Given the description of an element on the screen output the (x, y) to click on. 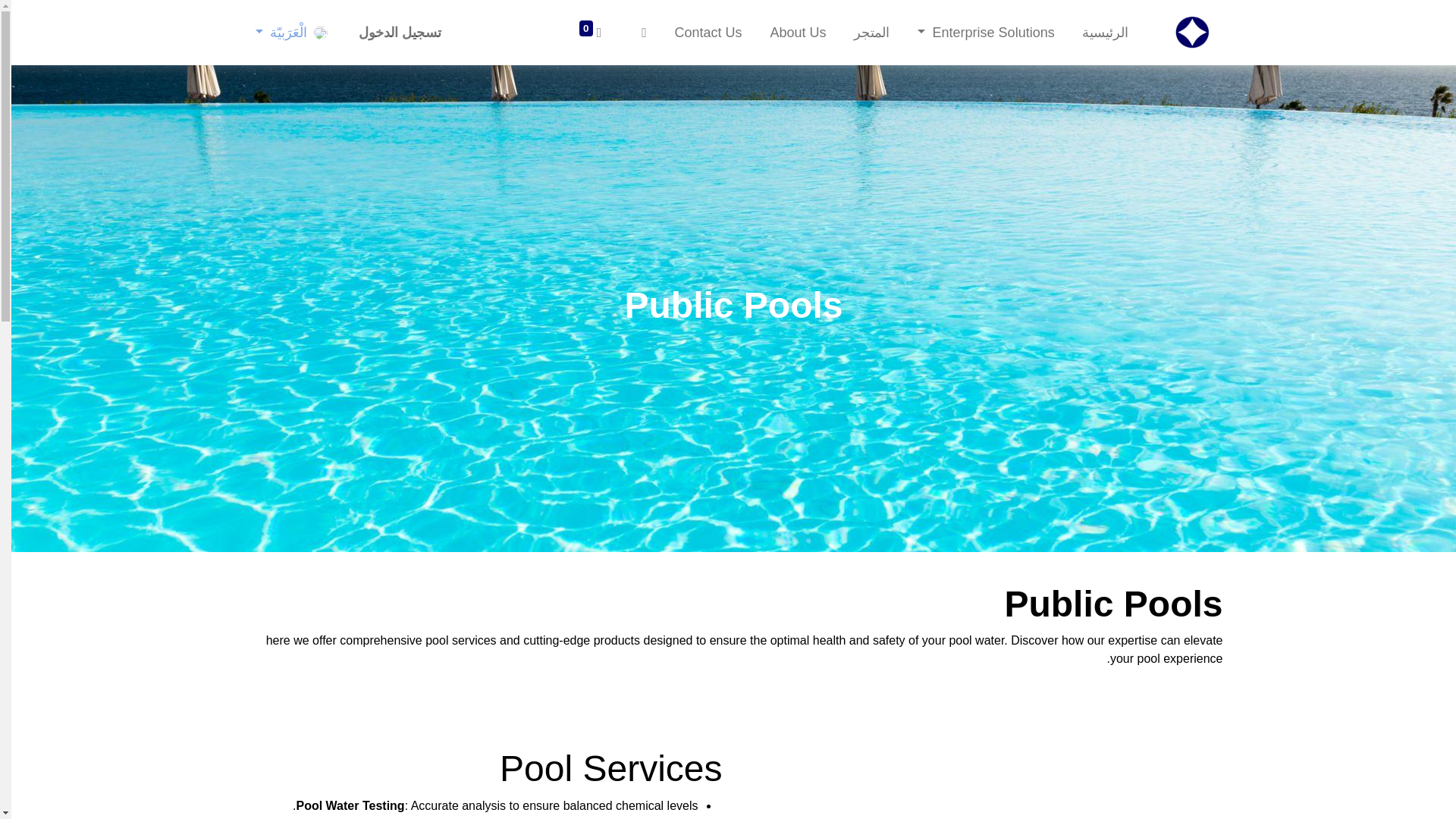
Enterprise Solutions (986, 32)
About Us (797, 32)
0 (589, 32)
Casa Merchants (1191, 31)
Contact Us (708, 32)
